Given the description of an element on the screen output the (x, y) to click on. 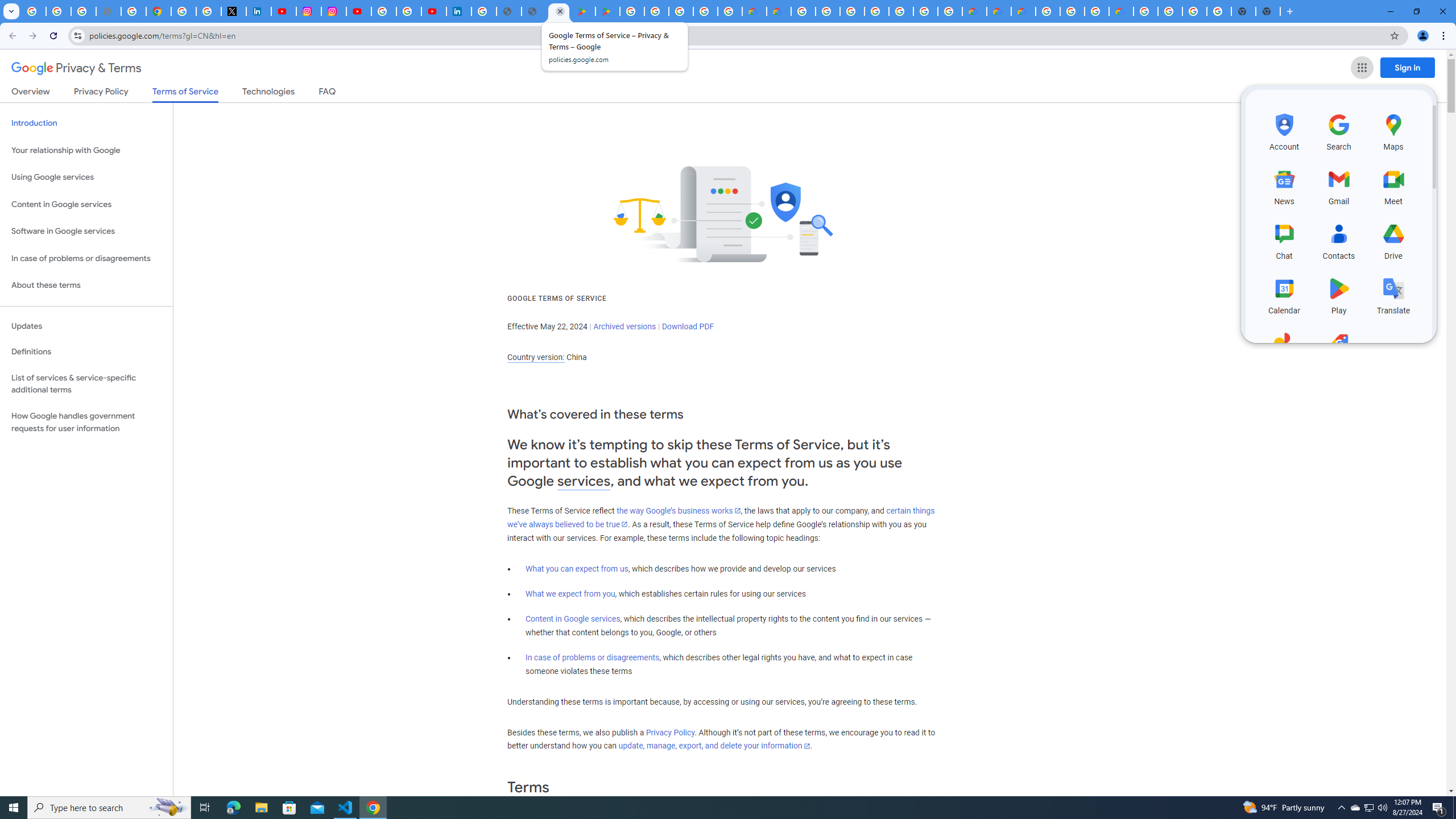
Download PDF (687, 326)
Search tabs (10, 11)
How Google handles government requests for user information (86, 422)
Technologies (268, 93)
